Given the description of an element on the screen output the (x, y) to click on. 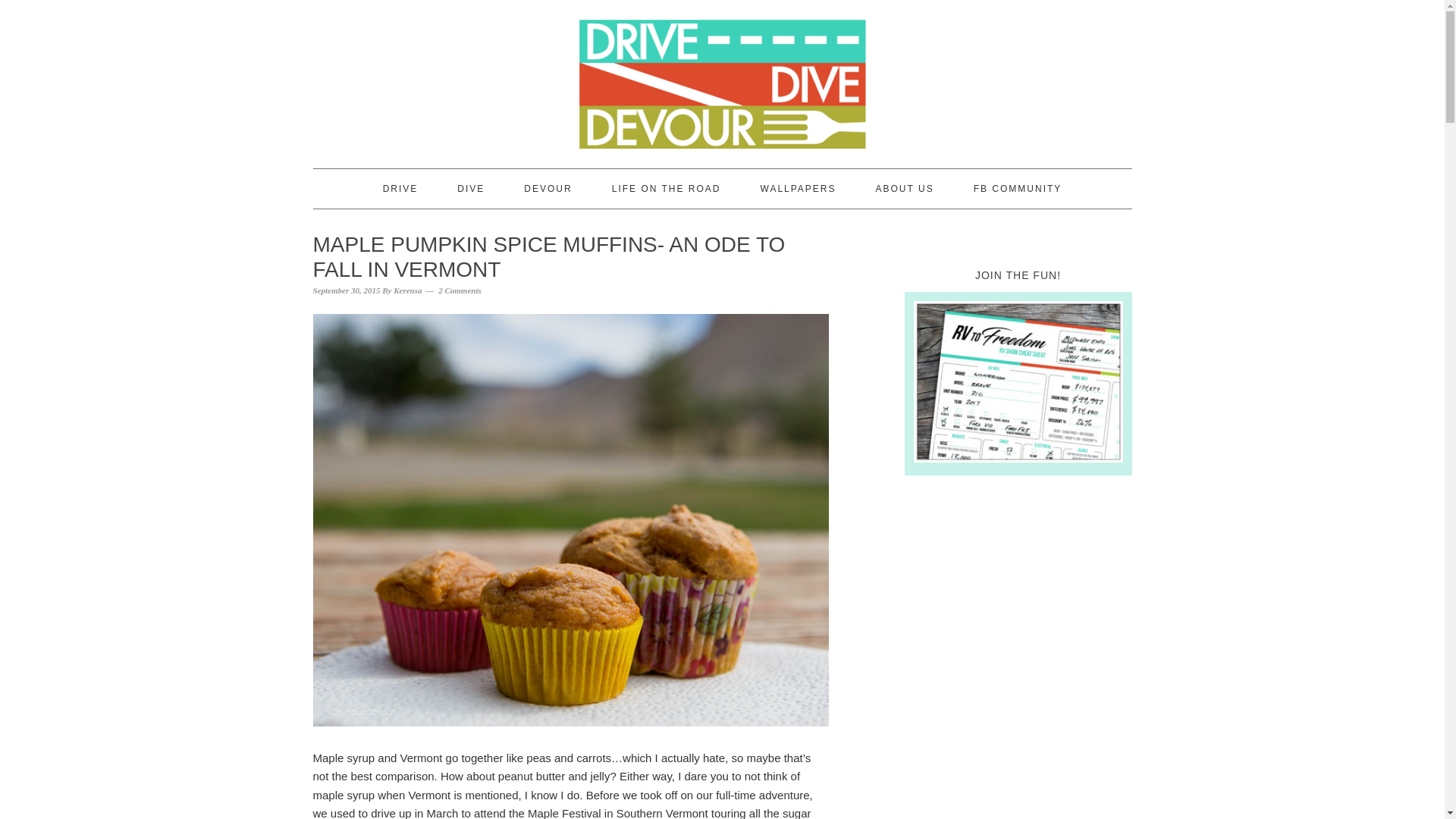
FB COMMUNITY (1018, 188)
DEVOUR (548, 188)
ABOUT US (905, 188)
WALLPAPERS (798, 188)
LIFE ON THE ROAD (665, 188)
Kerensa (407, 289)
Join our Facebook community to learn about RVing (1018, 188)
2 Comments (459, 289)
DIVE (470, 188)
DRIVE (401, 188)
